Given the description of an element on the screen output the (x, y) to click on. 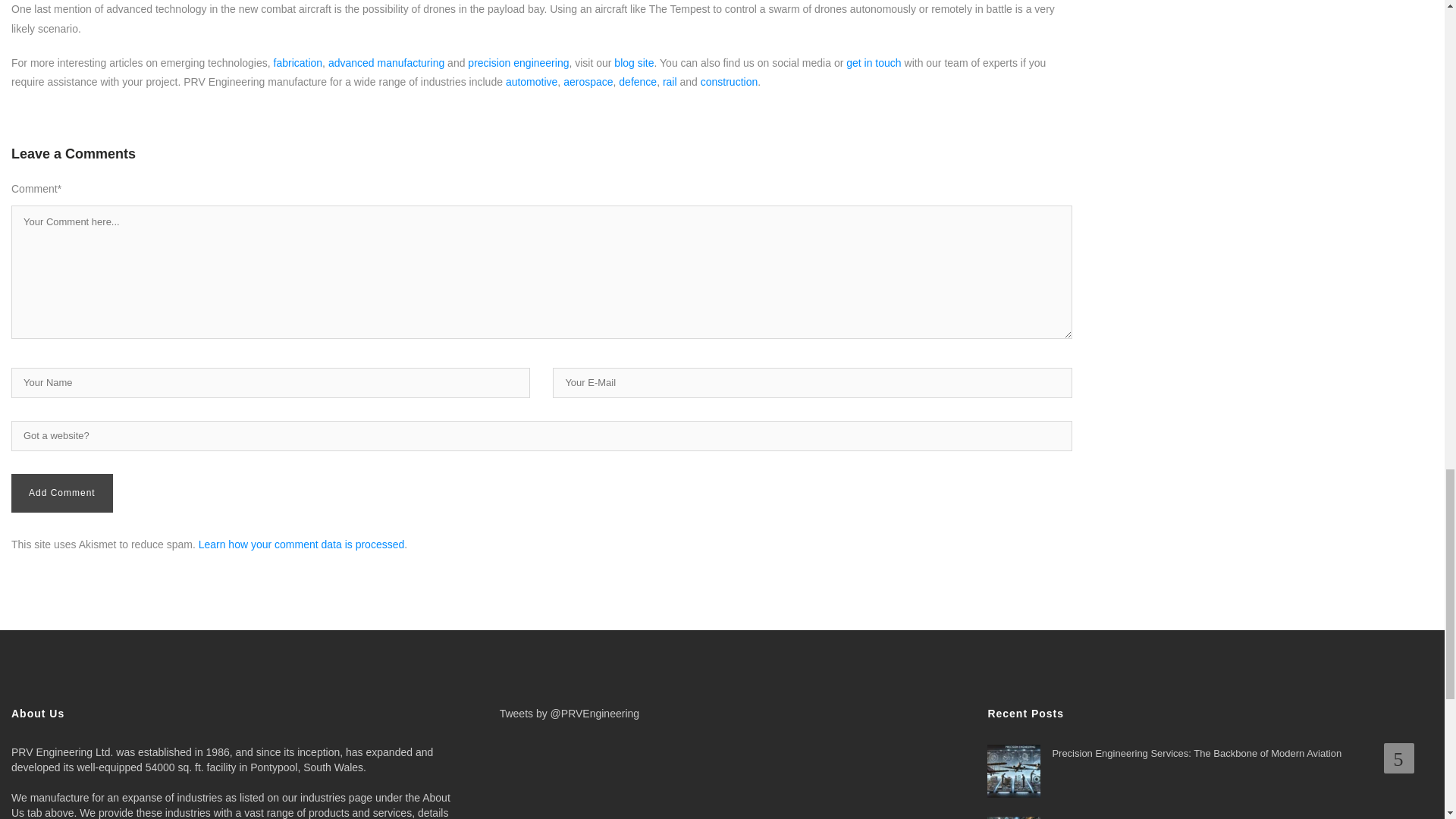
Add Comment (62, 493)
fabrication (298, 62)
automotive (531, 81)
construction (728, 81)
rail (669, 81)
precision engineering (518, 62)
Add Comment (62, 493)
defence (637, 81)
advanced manufacturing (386, 62)
aerospace (587, 81)
get in touch (873, 62)
blog site (633, 62)
Learn how your comment data is processed (301, 544)
